Given the description of an element on the screen output the (x, y) to click on. 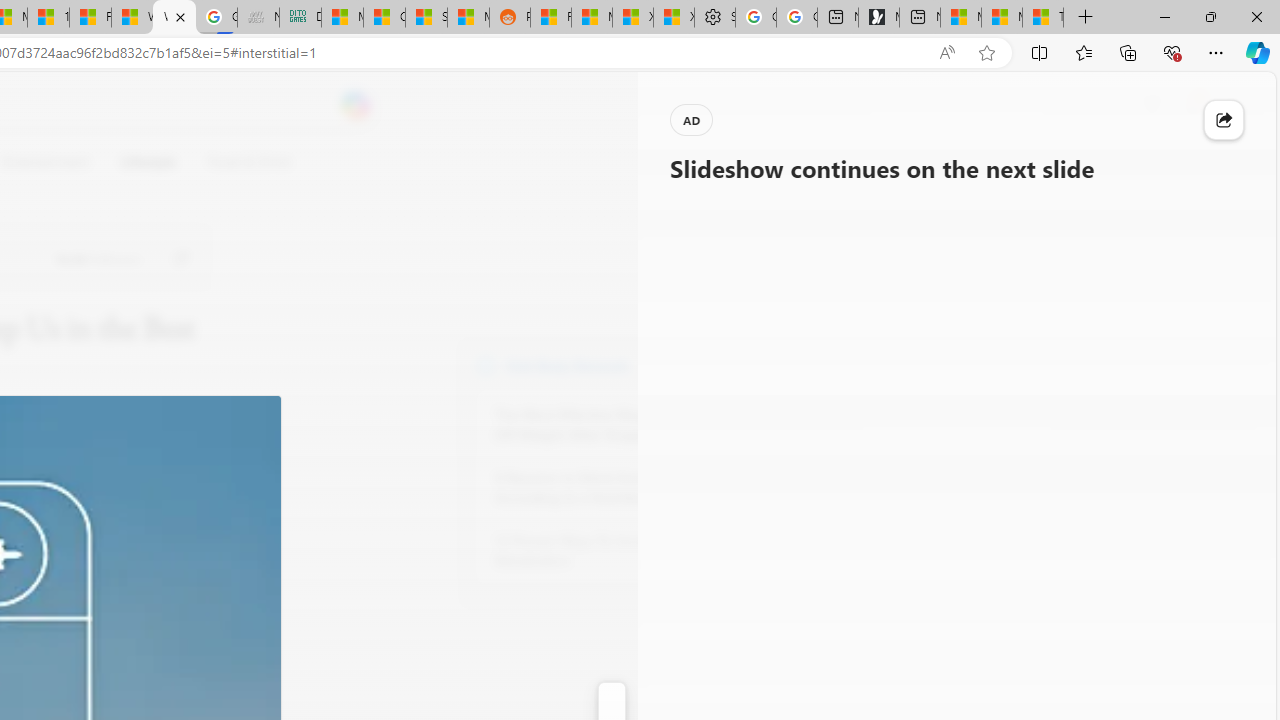
Visit Body Network website (733, 364)
Class: at-item immersive (1224, 120)
These 3 Stocks Pay You More Than 5% to Own Them (1042, 17)
